Given the description of an element on the screen output the (x, y) to click on. 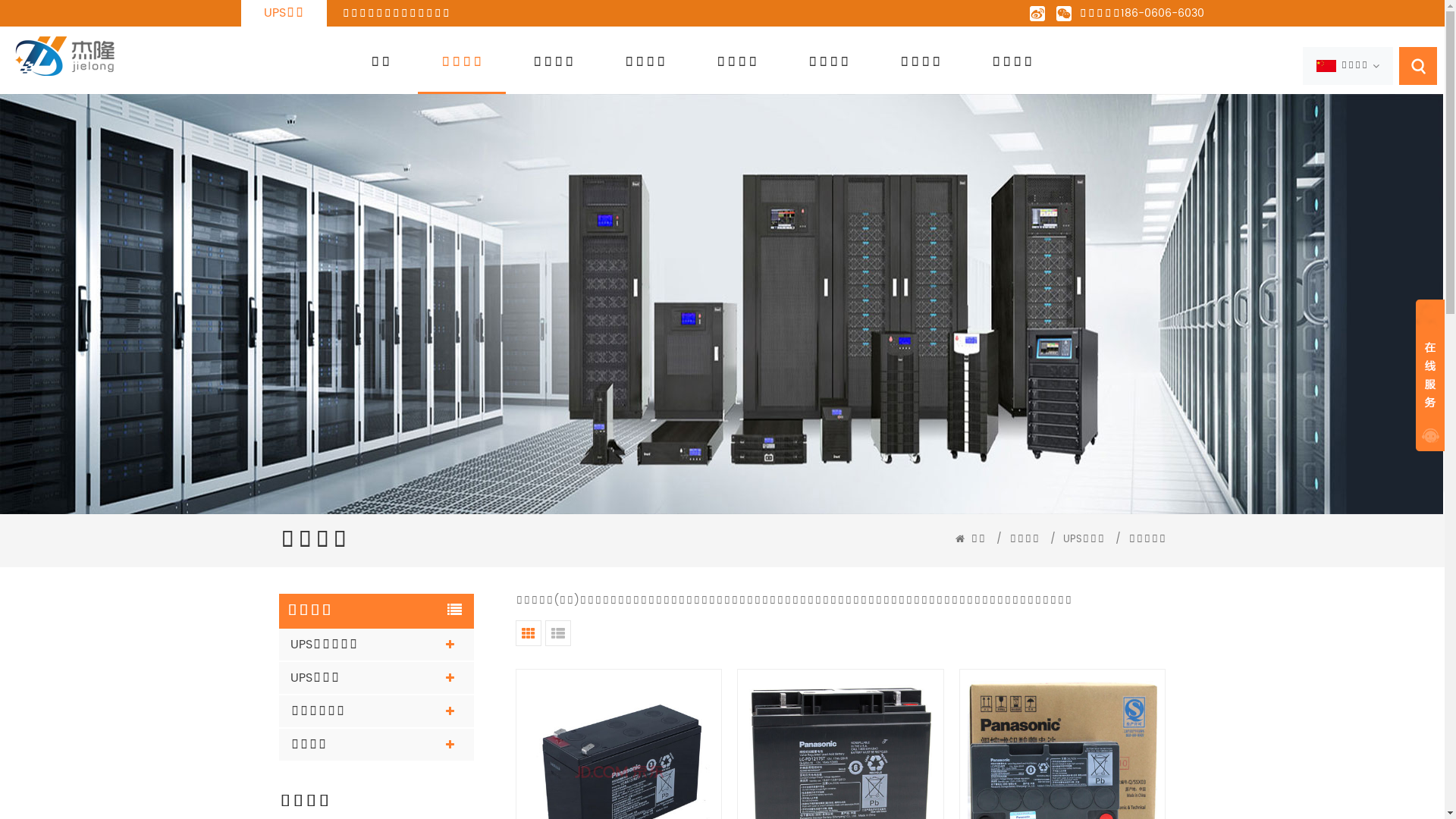
  Element type: text (1429, 375)
Open Element type: hover (1429, 375)
